Given the description of an element on the screen output the (x, y) to click on. 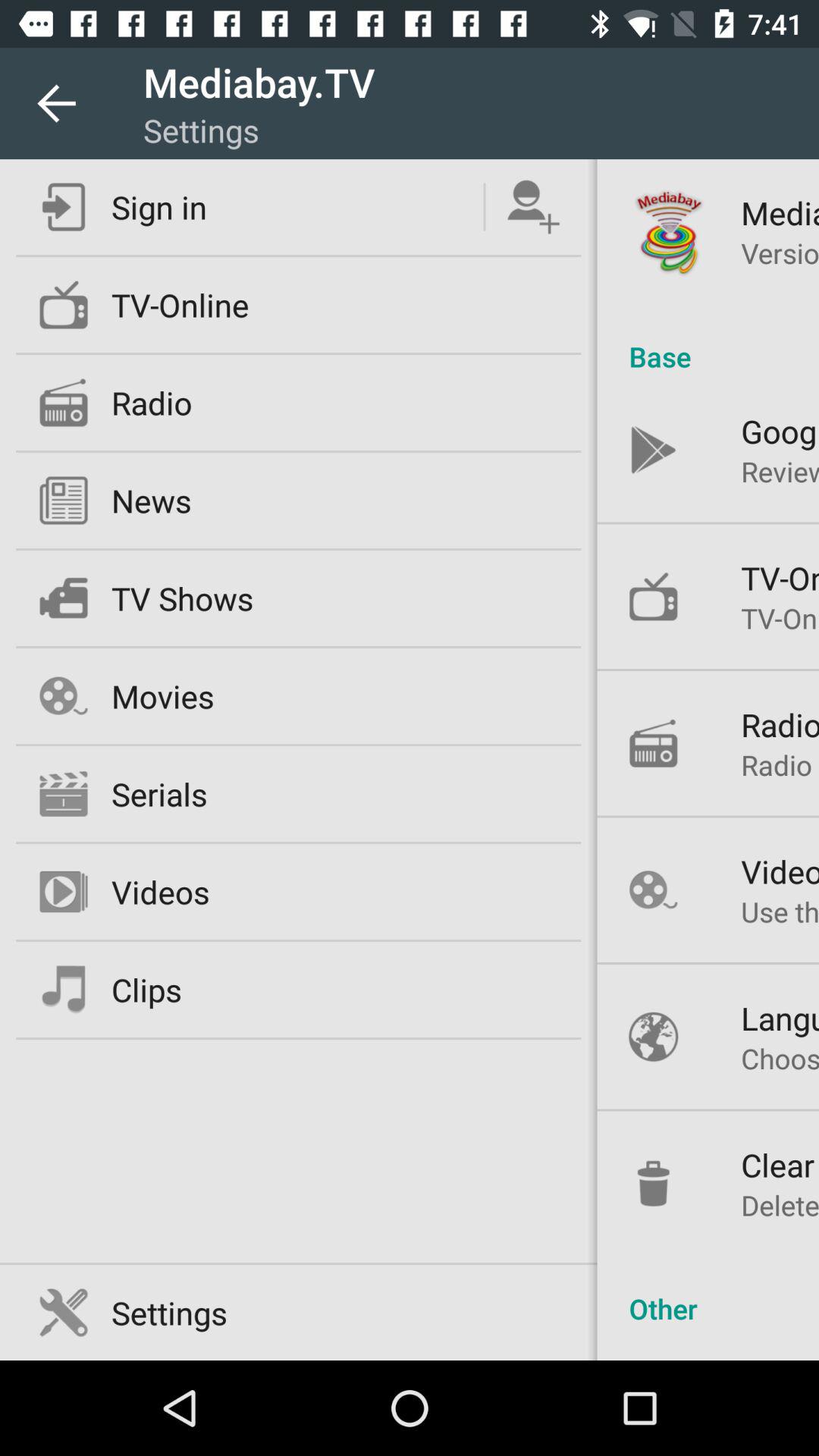
turn on icon above the videos (780, 764)
